Given the description of an element on the screen output the (x, y) to click on. 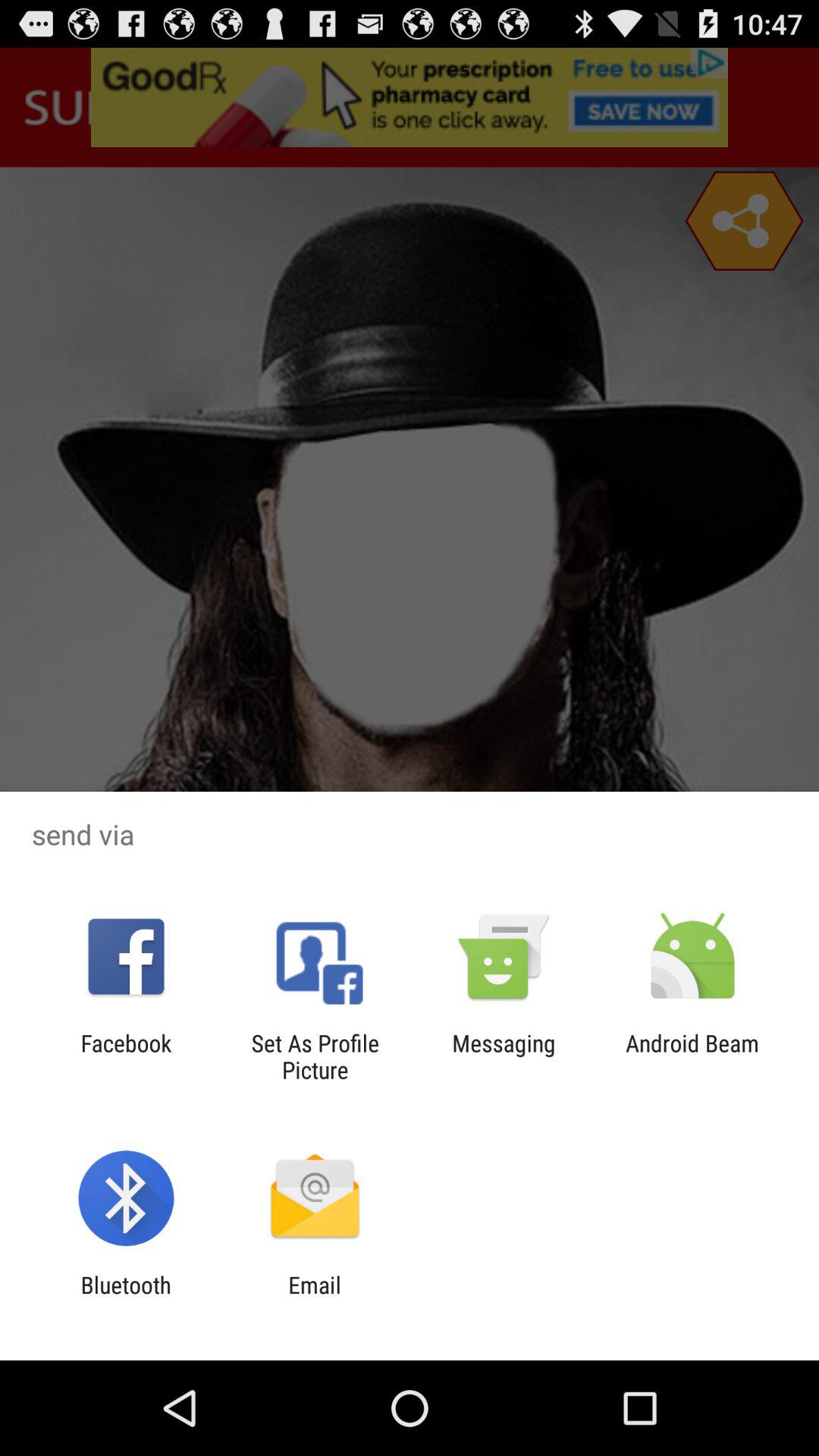
turn on the email (314, 1298)
